Given the description of an element on the screen output the (x, y) to click on. 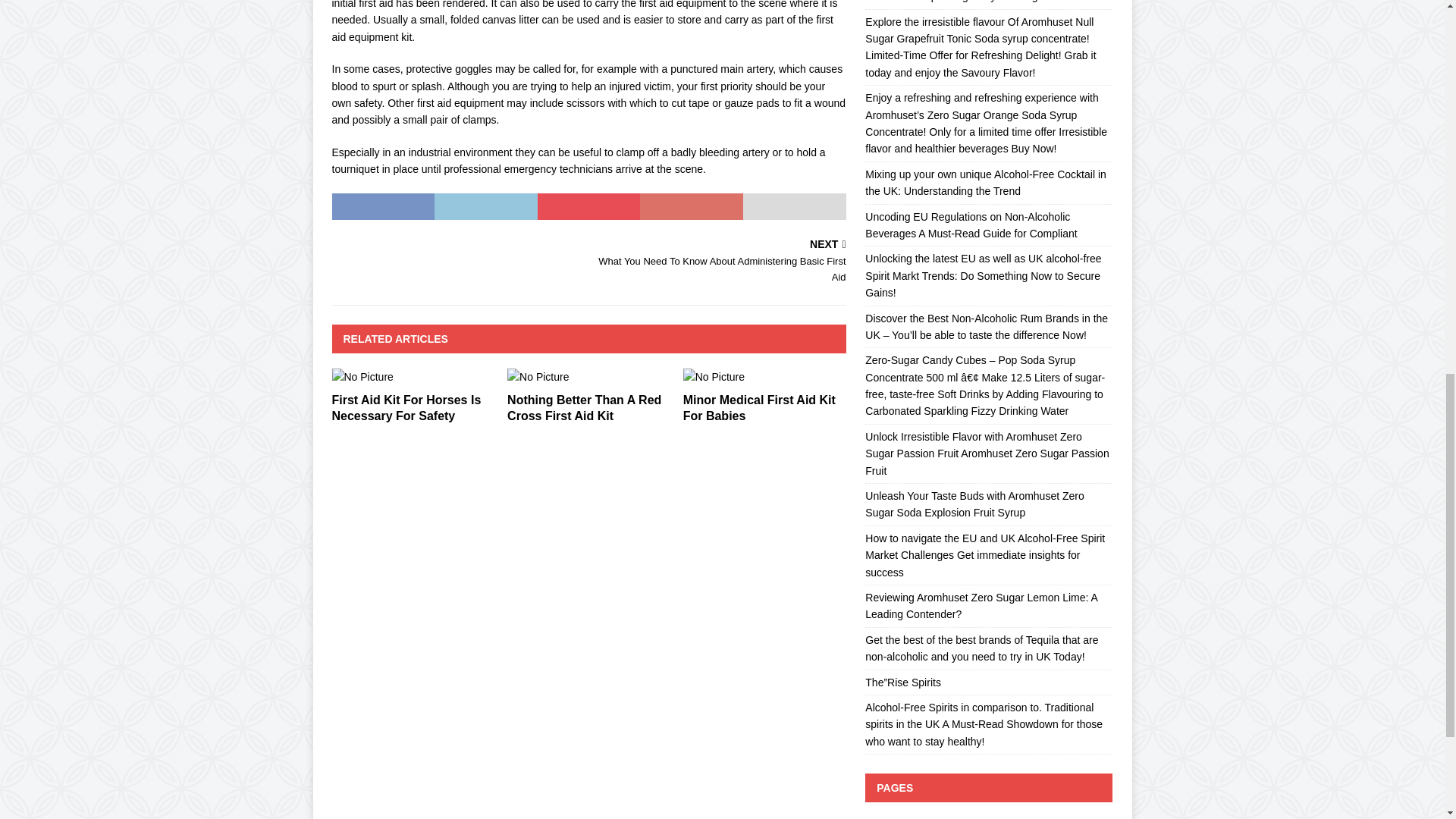
Nothing Better Than A Red Cross First Aid Kit (583, 407)
First Aid Kit For Horses Is Necessary For Safety (406, 407)
Minor Medical First Aid Kit For Babies (758, 407)
